Given the description of an element on the screen output the (x, y) to click on. 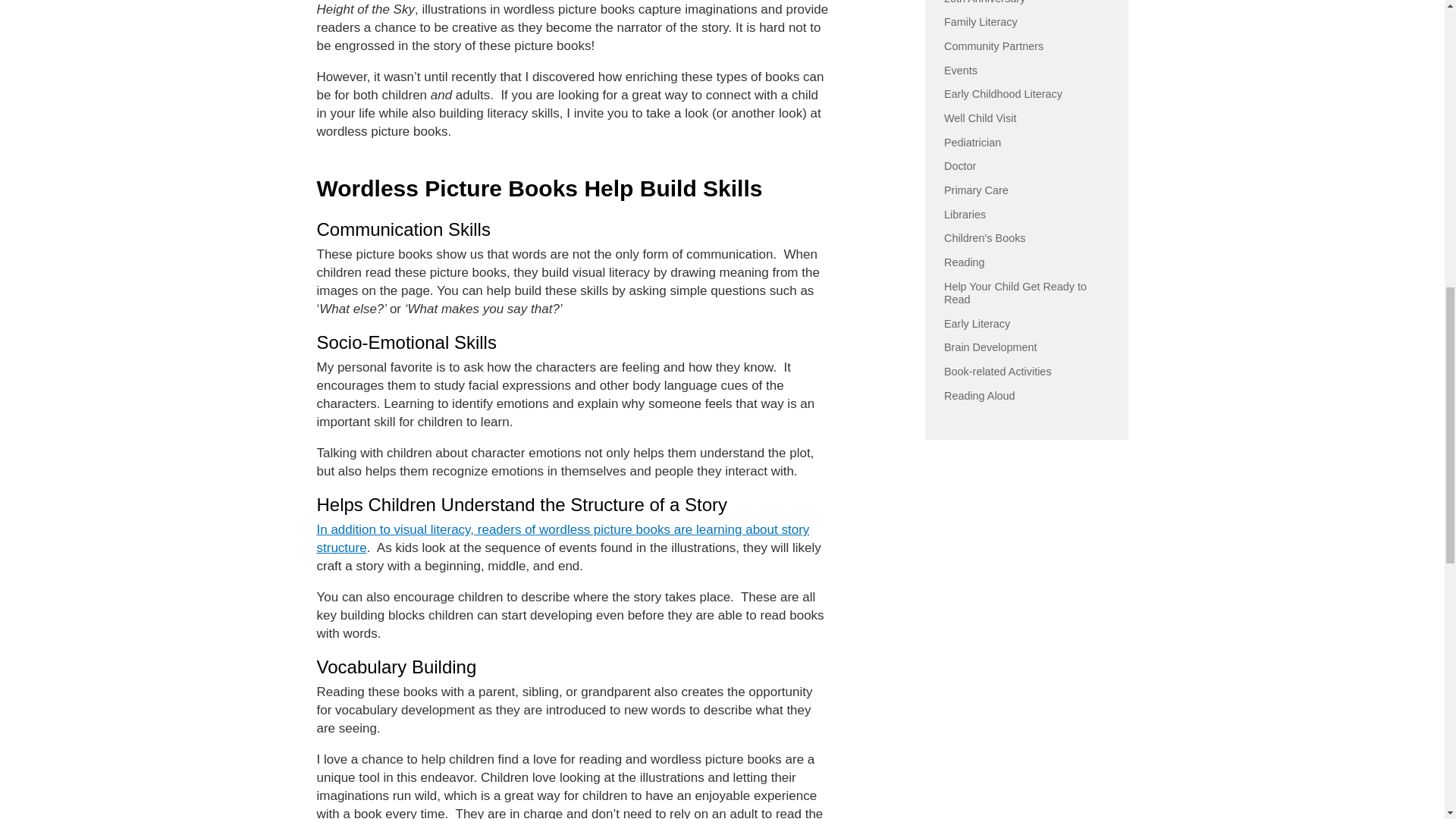
Events (959, 70)
Doctor (959, 165)
Well Child Visit (979, 118)
Libraries (964, 214)
20th Anniversary (984, 2)
Family Literacy (980, 21)
Reading (964, 262)
Community Partners (993, 46)
Children's Books (984, 237)
Primary Care (976, 190)
